Given the description of an element on the screen output the (x, y) to click on. 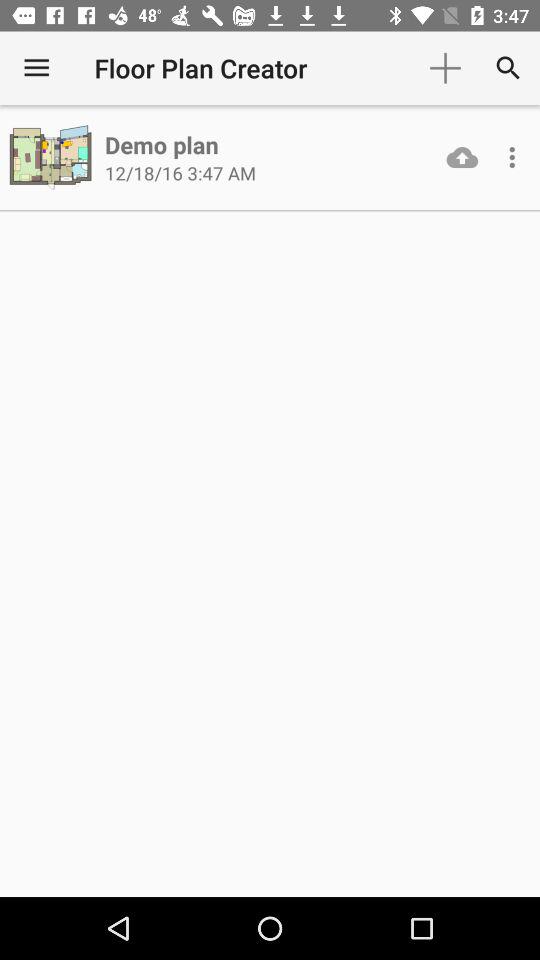
launch item to the right of the 12 18 16 item (462, 157)
